Given the description of an element on the screen output the (x, y) to click on. 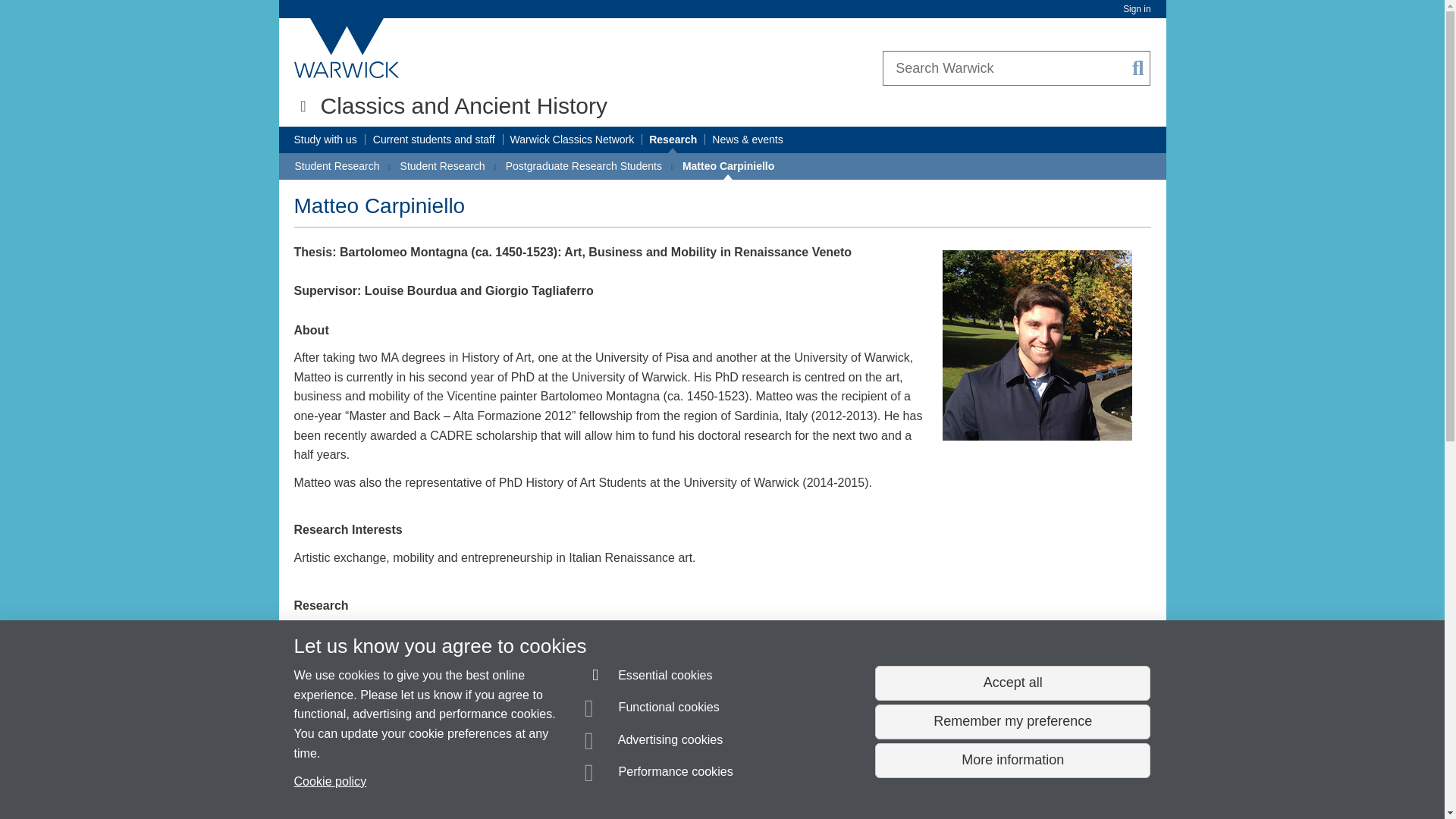
Study with us (325, 139)
Classics and Ancient History (463, 105)
Research (673, 139)
Sign in (1136, 9)
Accept all functional, advertising and performance cookies (1012, 683)
University of Warwick homepage (346, 48)
Current students and staff (433, 139)
Essential cookies are always on (649, 677)
Warwick Classics Network (572, 139)
